Given the description of an element on the screen output the (x, y) to click on. 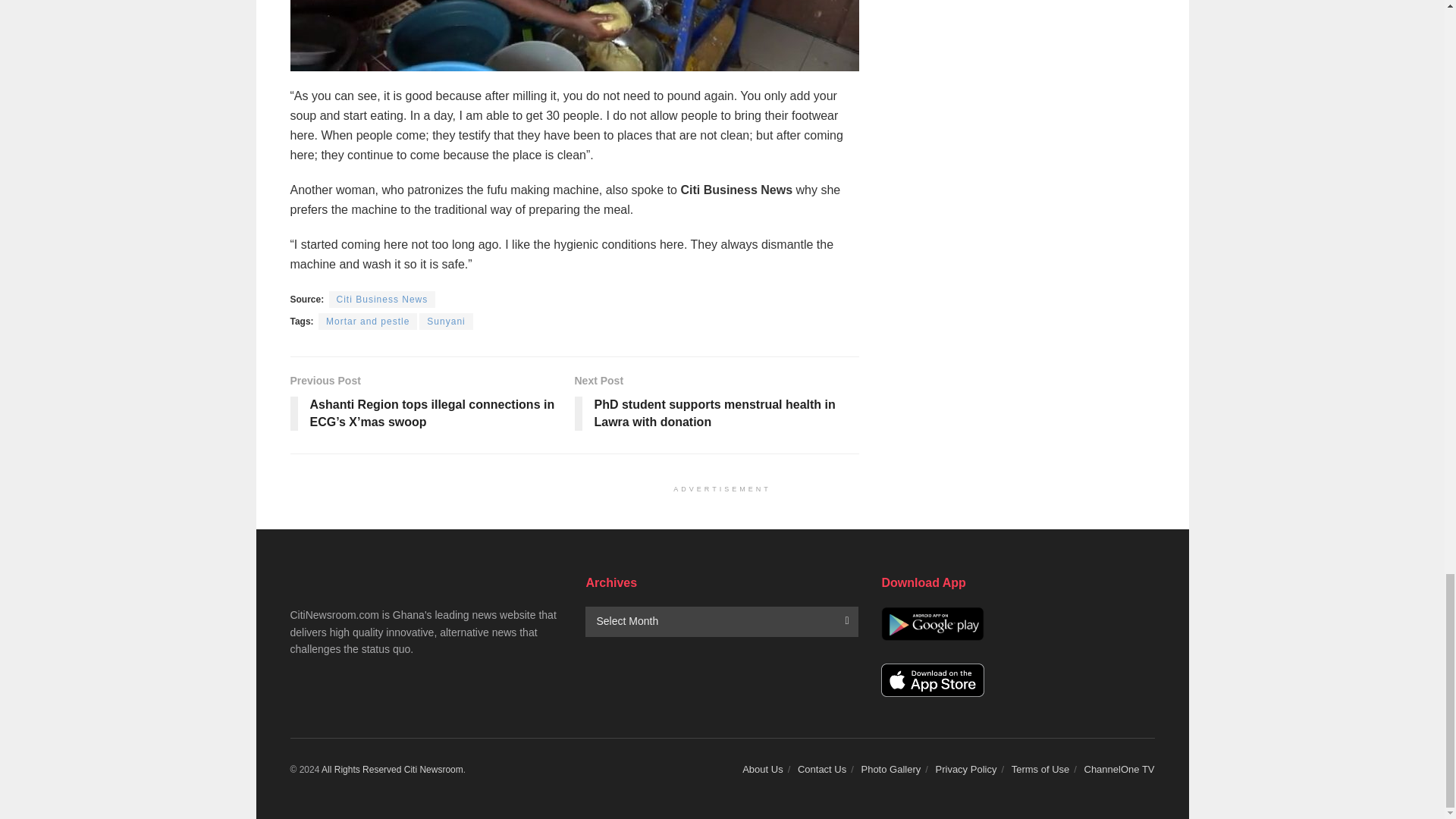
Google Play (932, 623)
Citi Newsroom (433, 769)
Citi Newsroom (361, 769)
App Store (932, 680)
